Given the description of an element on the screen output the (x, y) to click on. 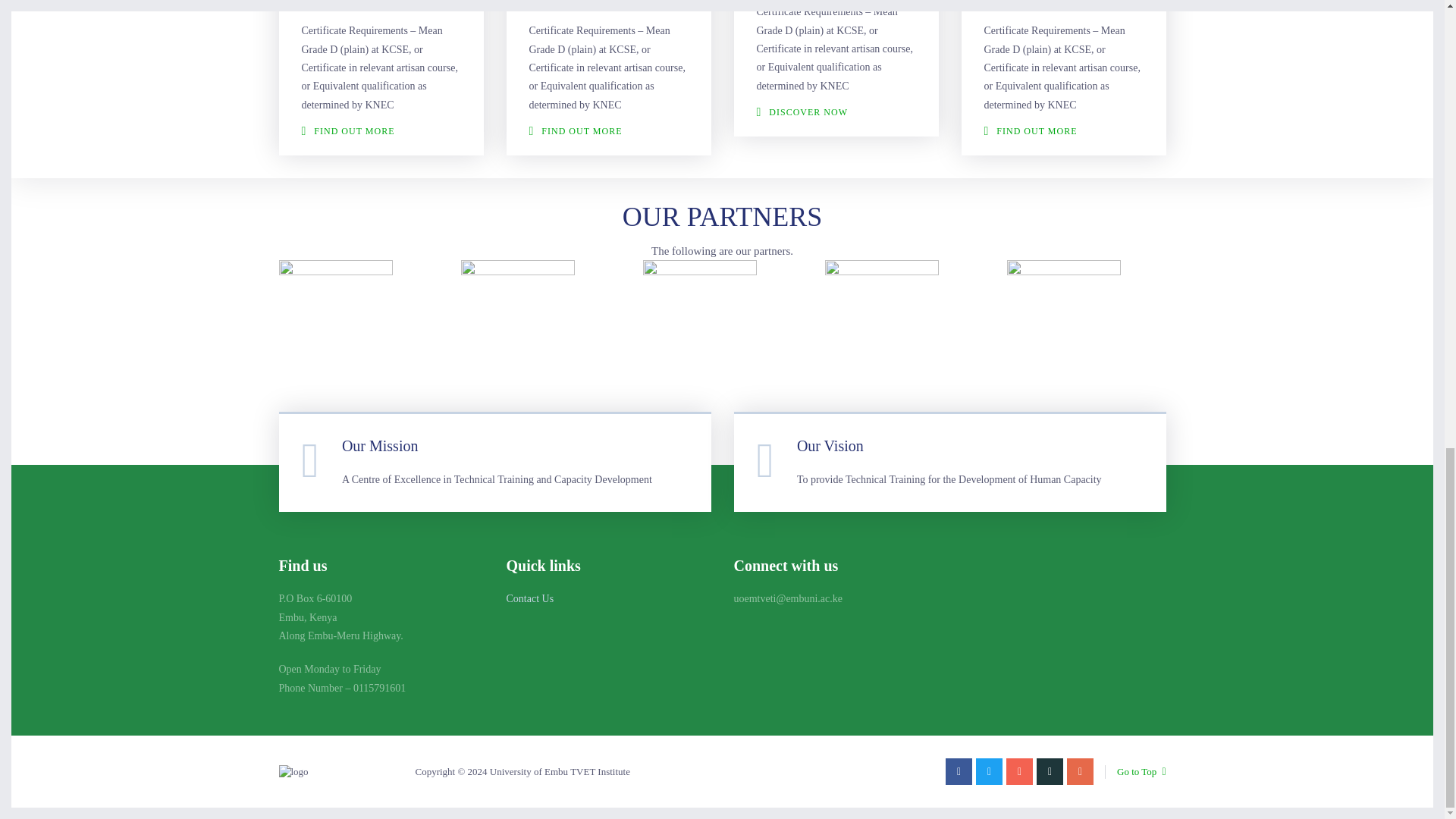
TVETA (336, 316)
KICD (518, 316)
KNEC (700, 316)
Kasneb (1064, 316)
MoE (882, 316)
